Given the description of an element on the screen output the (x, y) to click on. 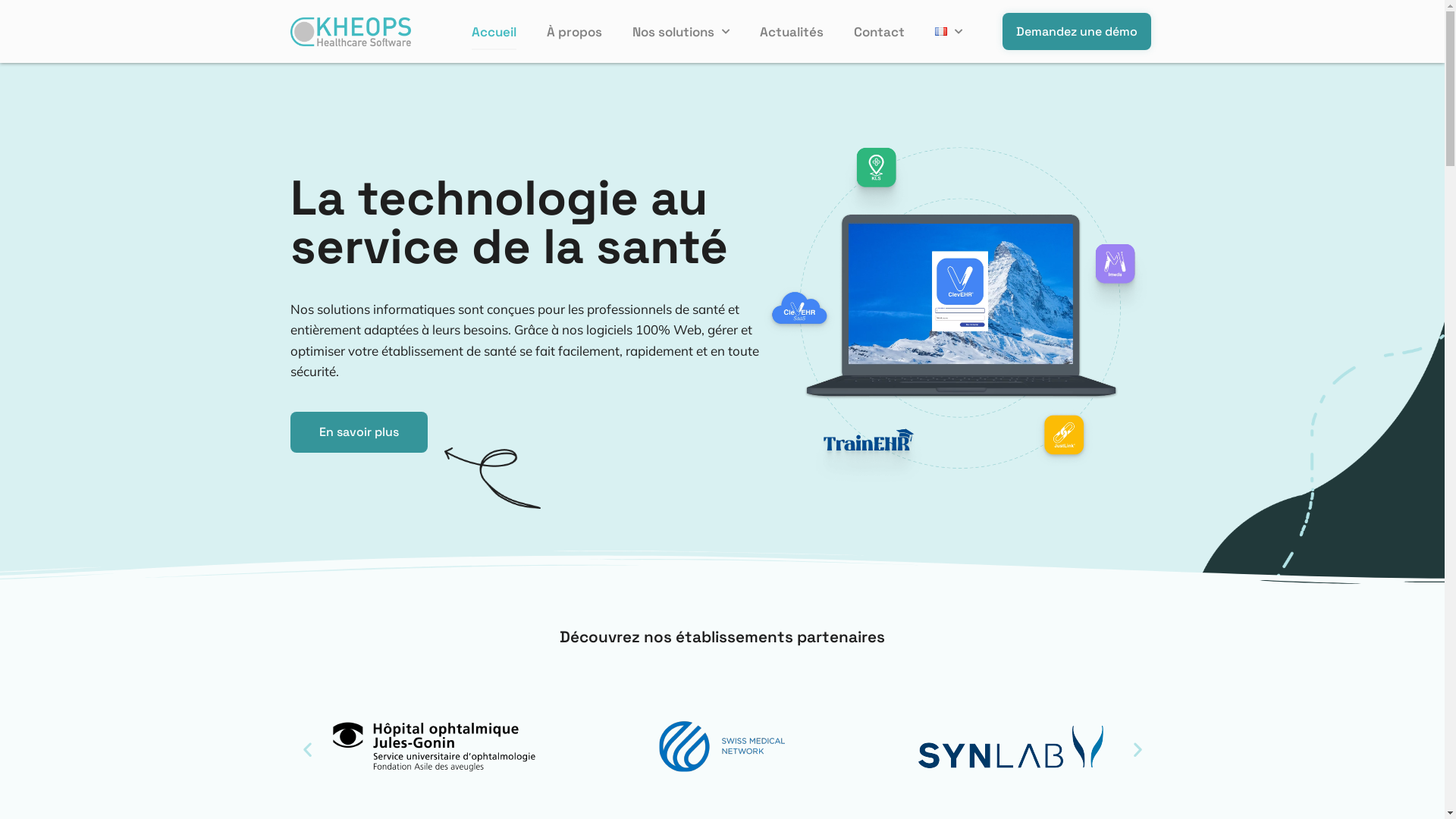
Nos solutions Element type: text (680, 31)
Accueil Element type: text (493, 31)
En savoir plus Element type: text (357, 431)
Contact Element type: text (878, 31)
